Given the description of an element on the screen output the (x, y) to click on. 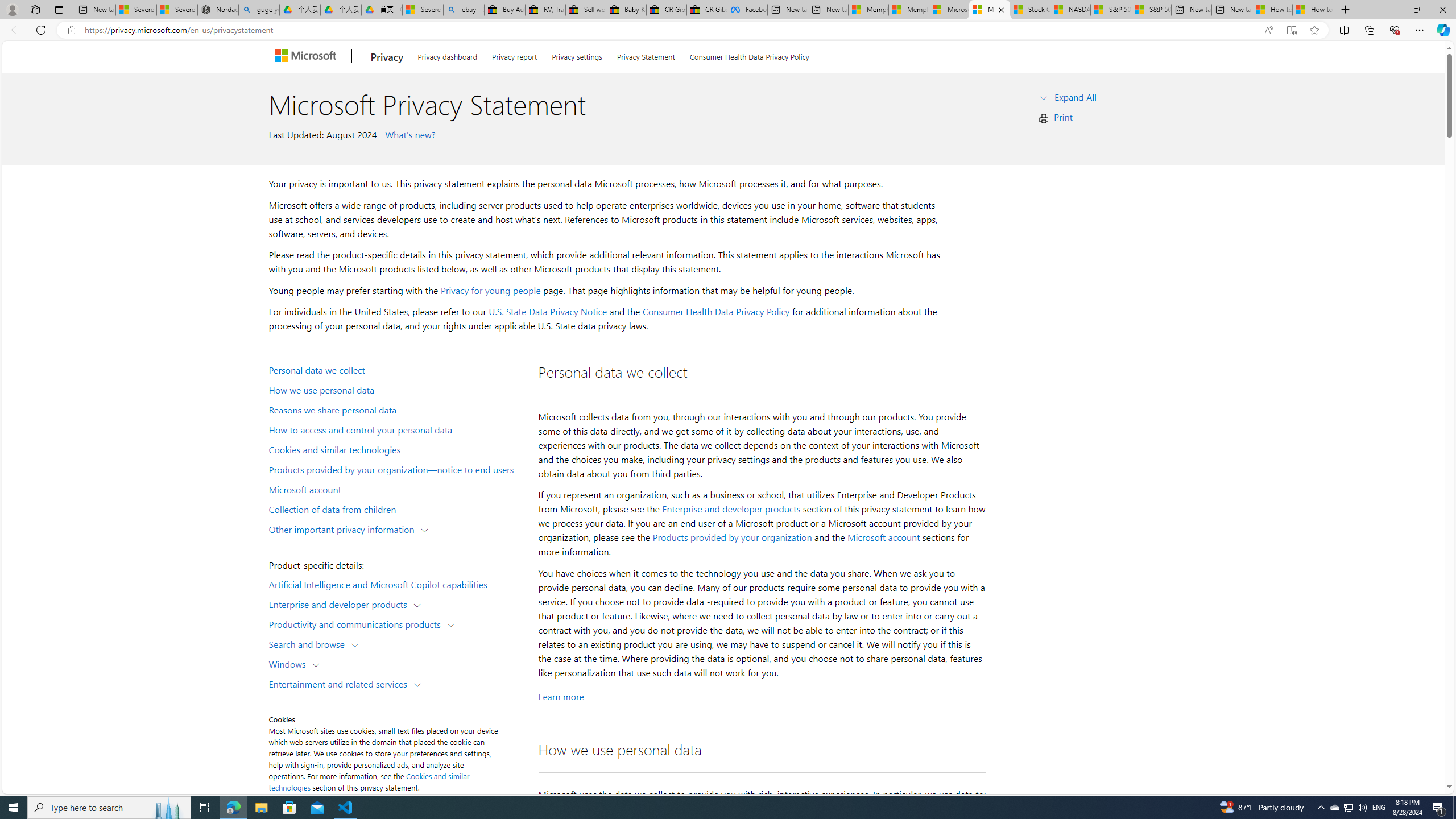
Expand All (1075, 96)
Cookies and similar technologies (395, 449)
